Given the description of an element on the screen output the (x, y) to click on. 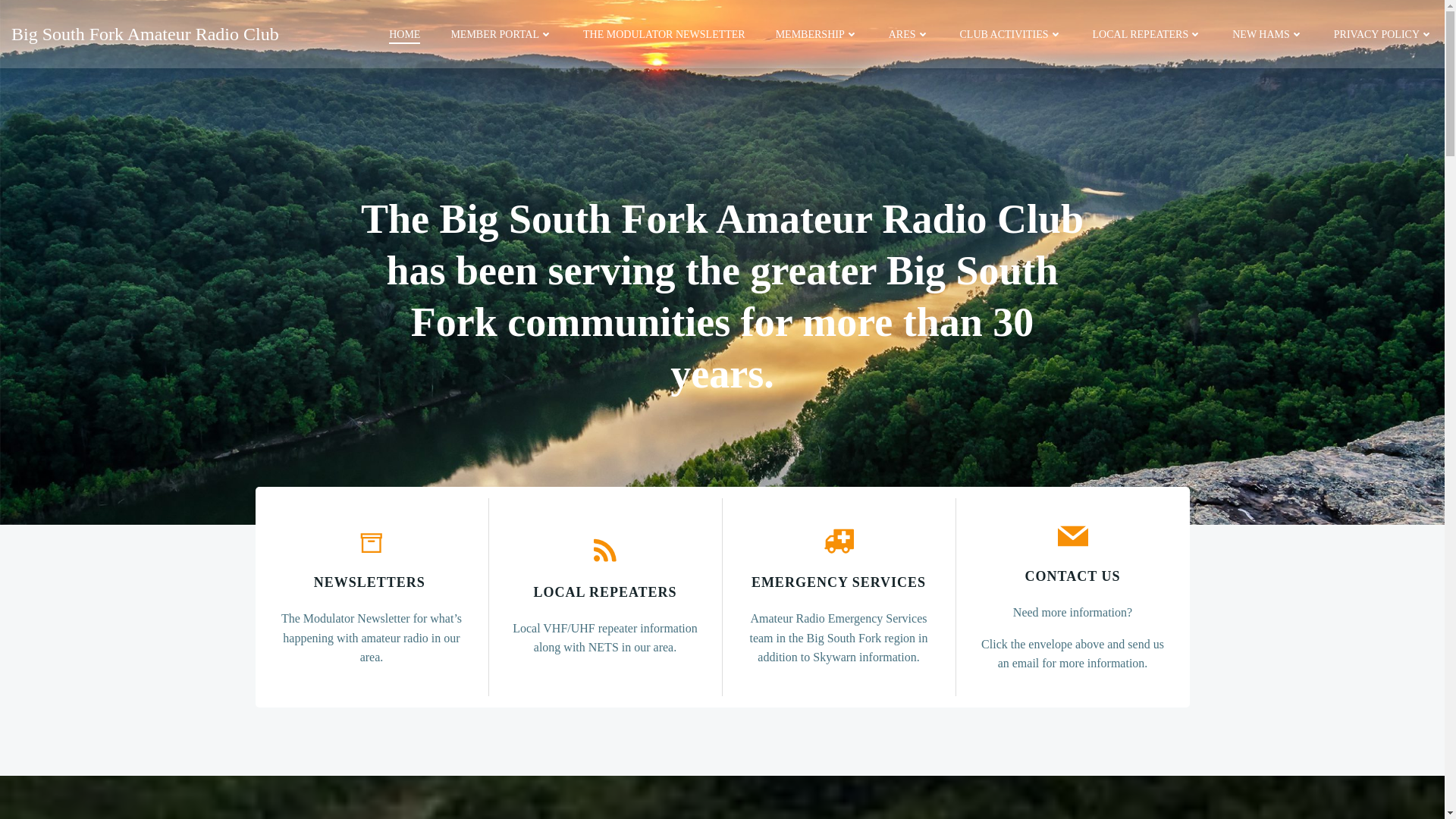
Big South Fork Amateur Radio Club (145, 33)
THE MODULATOR NEWSLETTER (664, 33)
HOME (404, 33)
ARES (909, 33)
MEMBERSHIP (817, 33)
CLUB ACTIVITIES (1010, 33)
MEMBER PORTAL (501, 33)
